Given the description of an element on the screen output the (x, y) to click on. 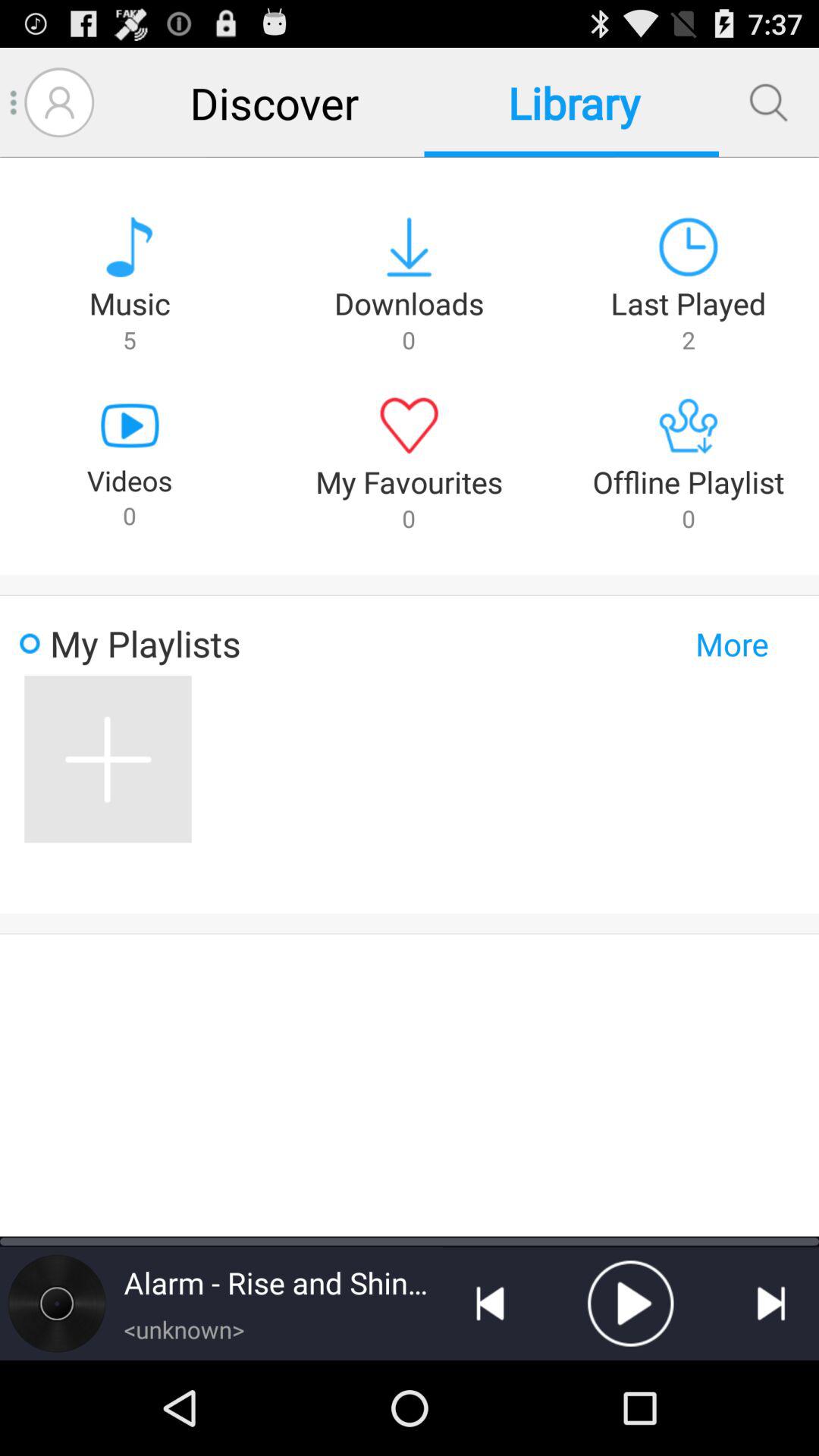
launch the item above music icon (59, 102)
